Given the description of an element on the screen output the (x, y) to click on. 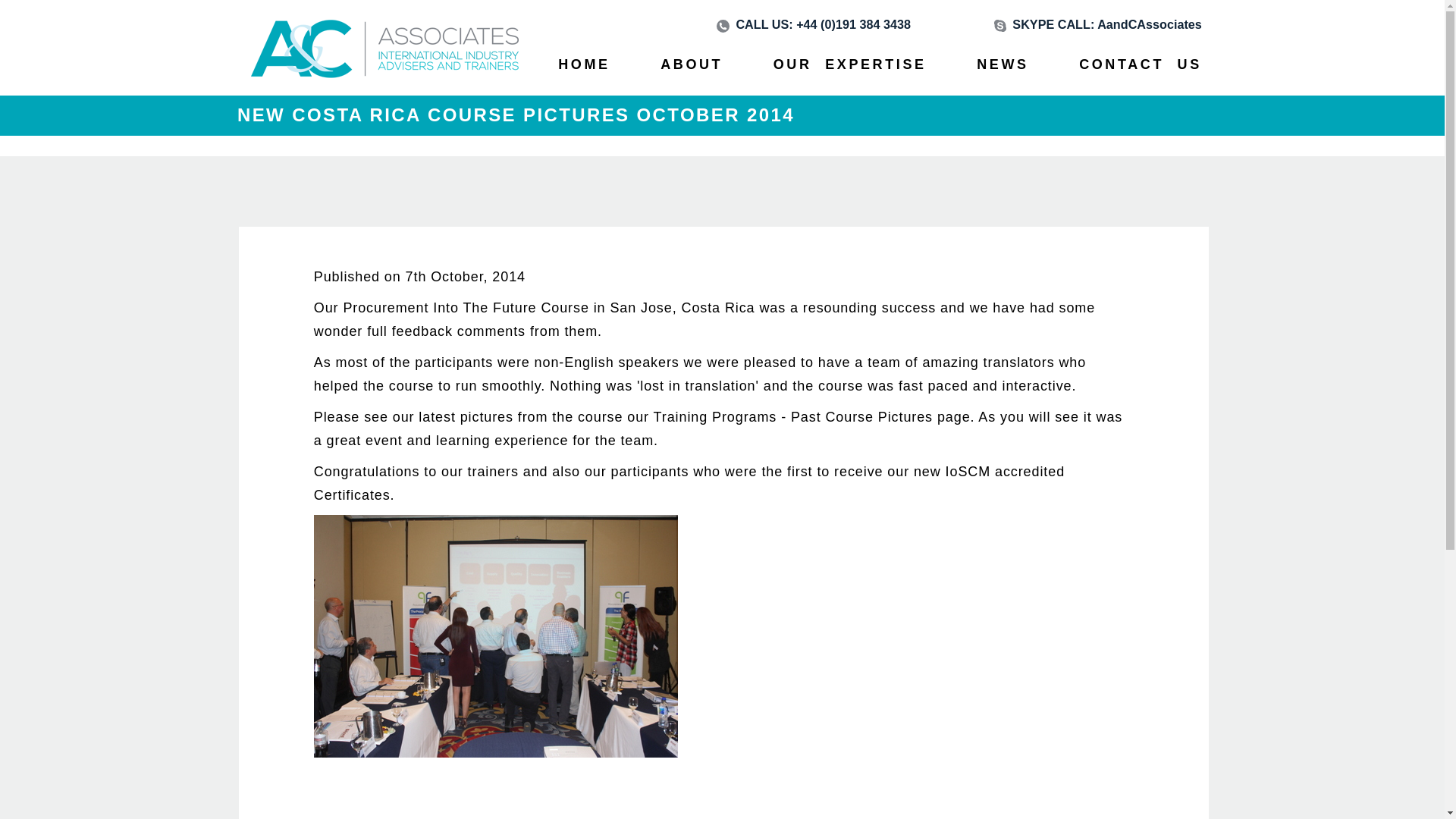
SKYPE CALL: AandCAssociates (1098, 24)
OUR EXPERTISE (849, 71)
HOME (584, 71)
ABOUT (691, 71)
